Given the description of an element on the screen output the (x, y) to click on. 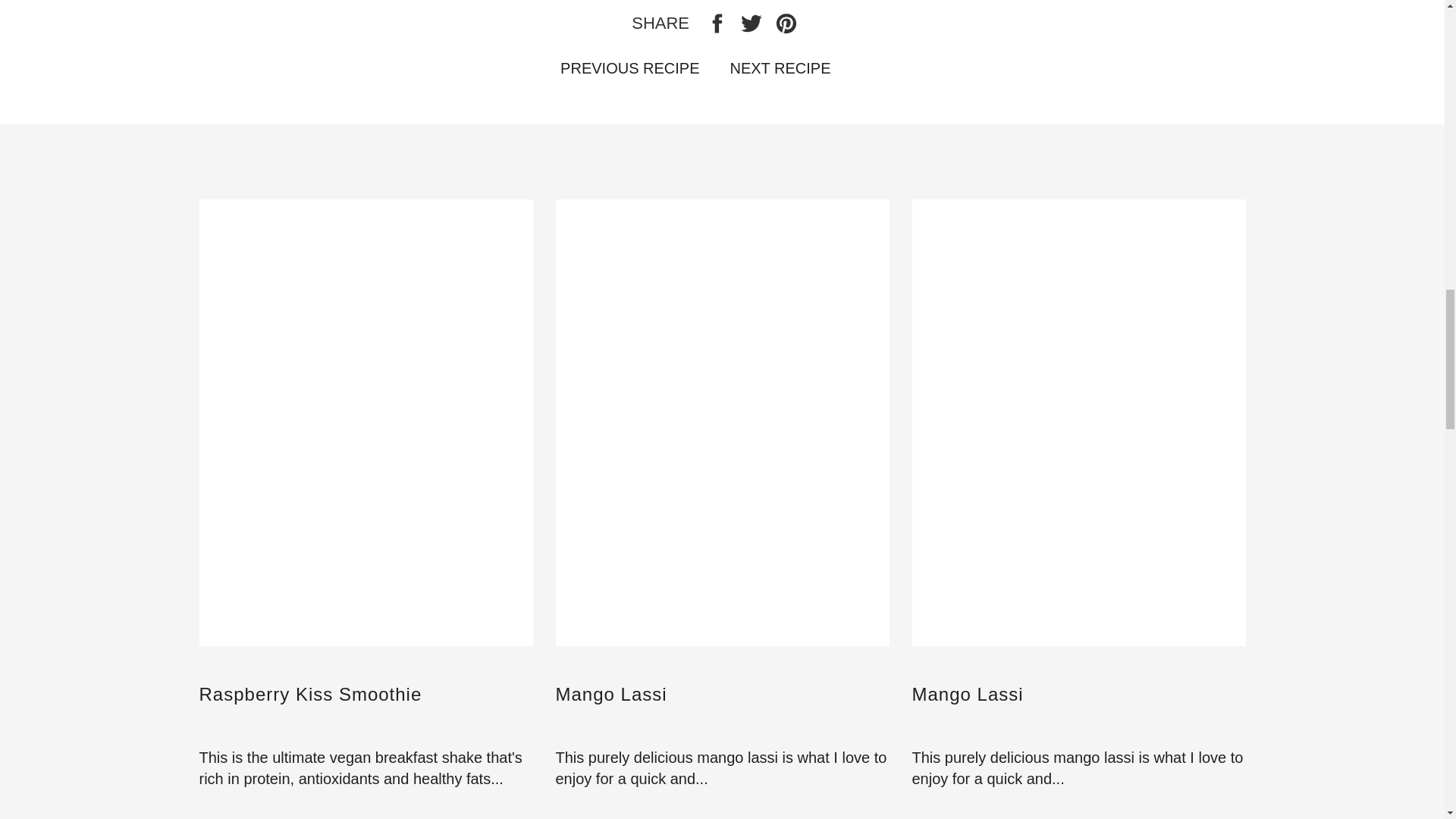
Share on Facebook (719, 22)
Pin on Pinterest (785, 22)
Tweet on Twitter (753, 22)
